Given the description of an element on the screen output the (x, y) to click on. 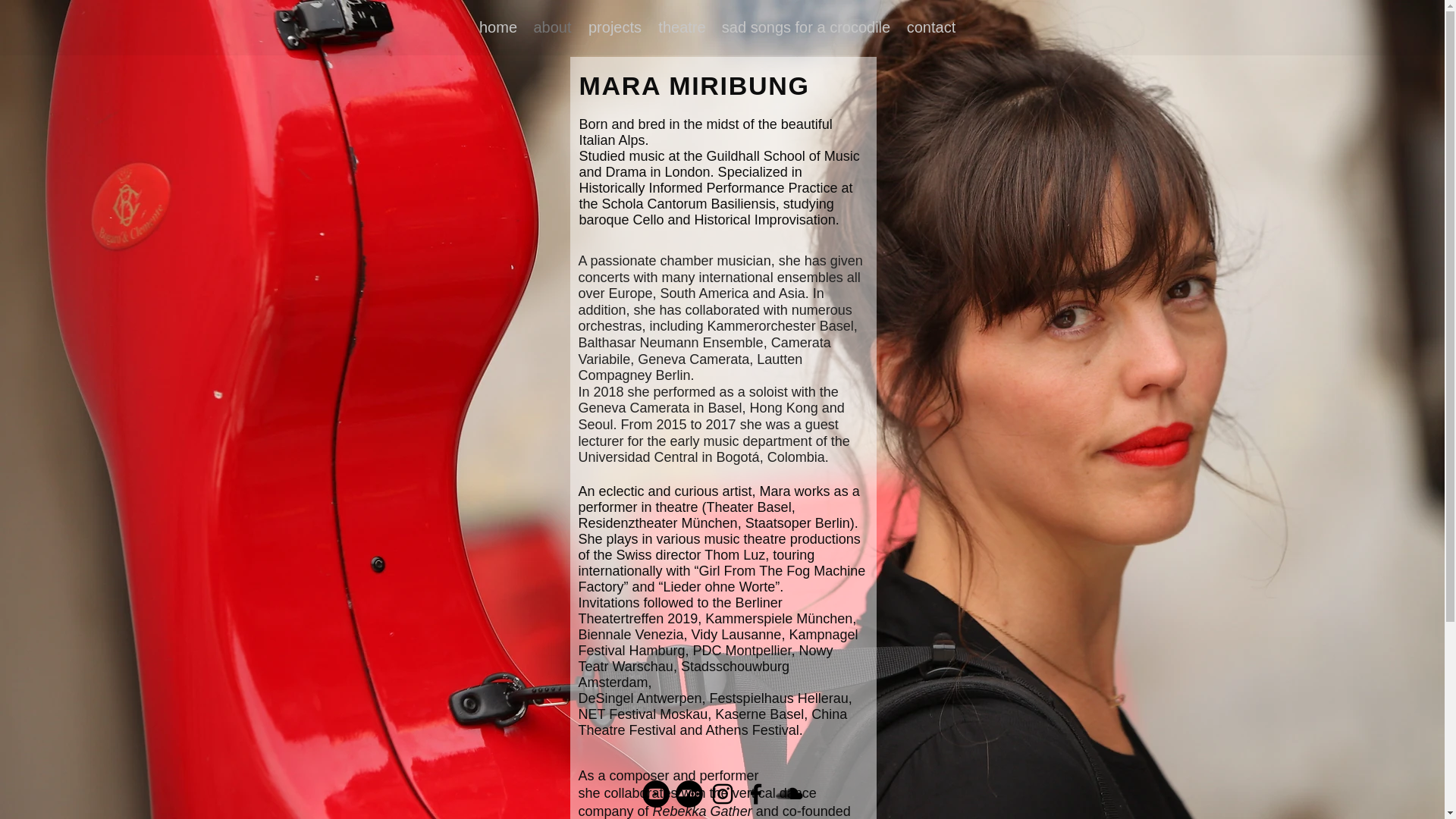
theatre (682, 26)
about (551, 26)
contact (930, 26)
sad songs for a crocodile (806, 26)
projects (614, 26)
home (498, 26)
